Given the description of an element on the screen output the (x, y) to click on. 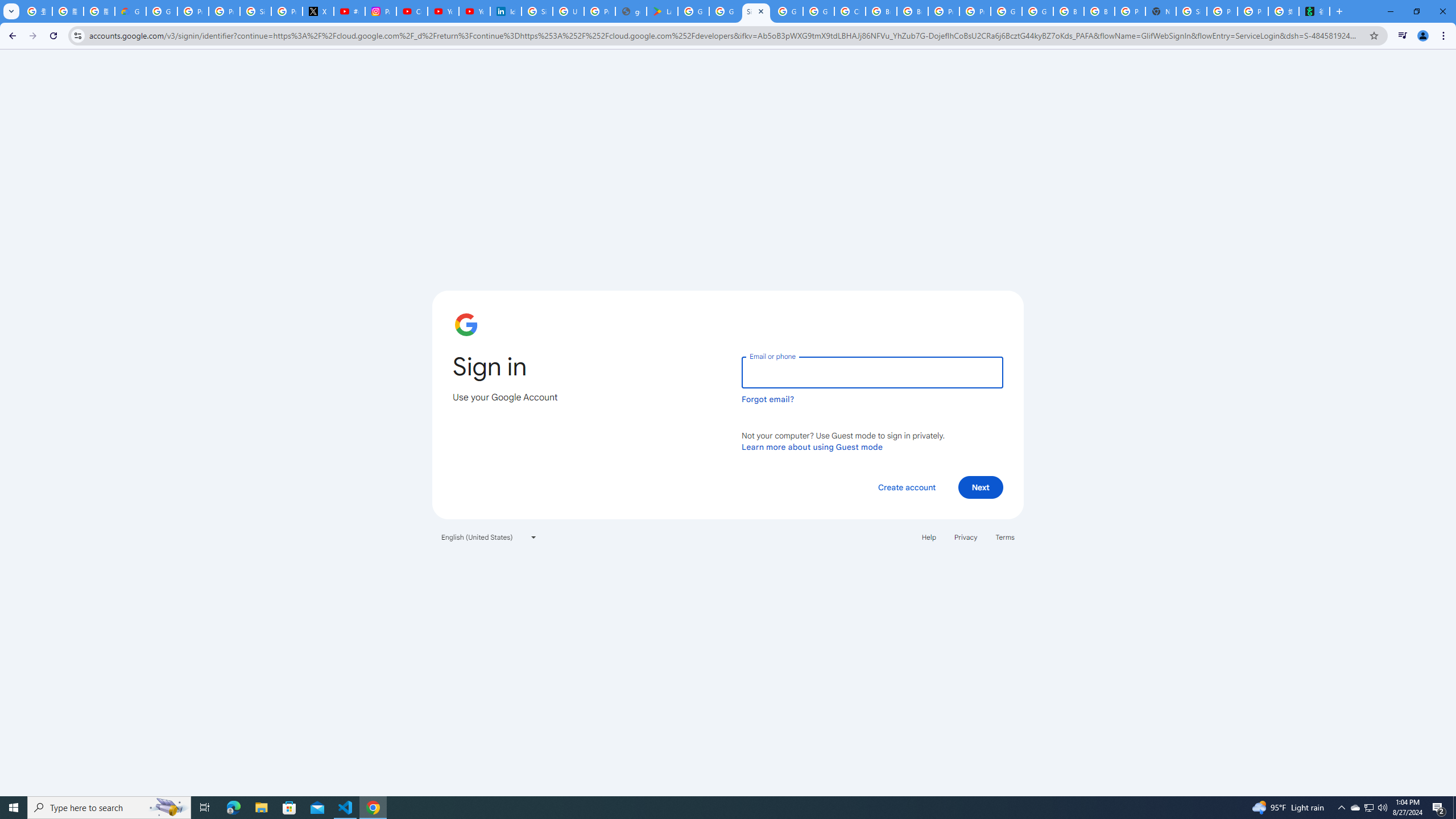
#nbabasketballhighlights - YouTube (349, 11)
